Given the description of an element on the screen output the (x, y) to click on. 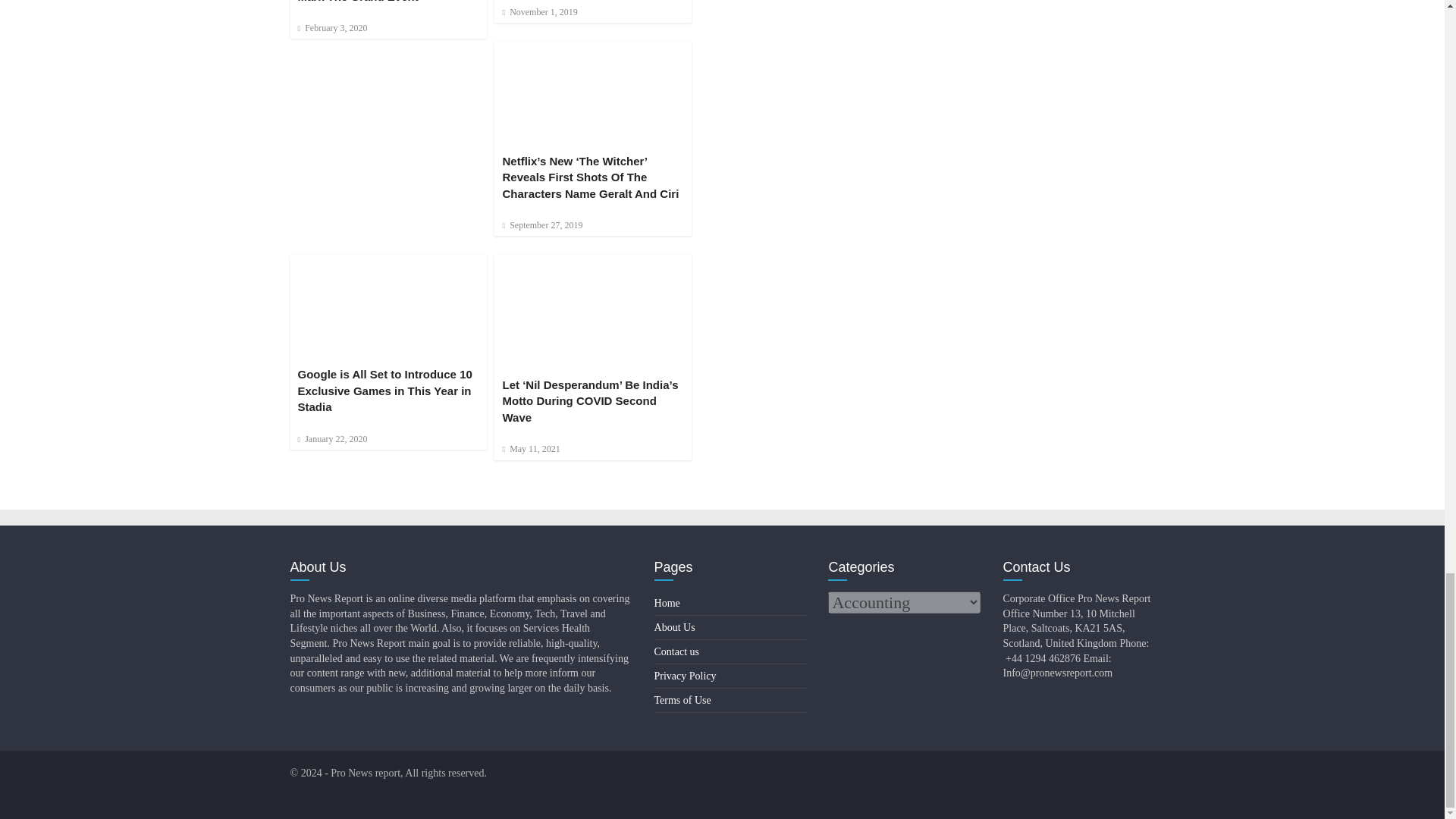
6:18 pm (331, 27)
November 1, 2019 (539, 11)
3:20 pm (539, 11)
February 3, 2020 (331, 27)
